Given the description of an element on the screen output the (x, y) to click on. 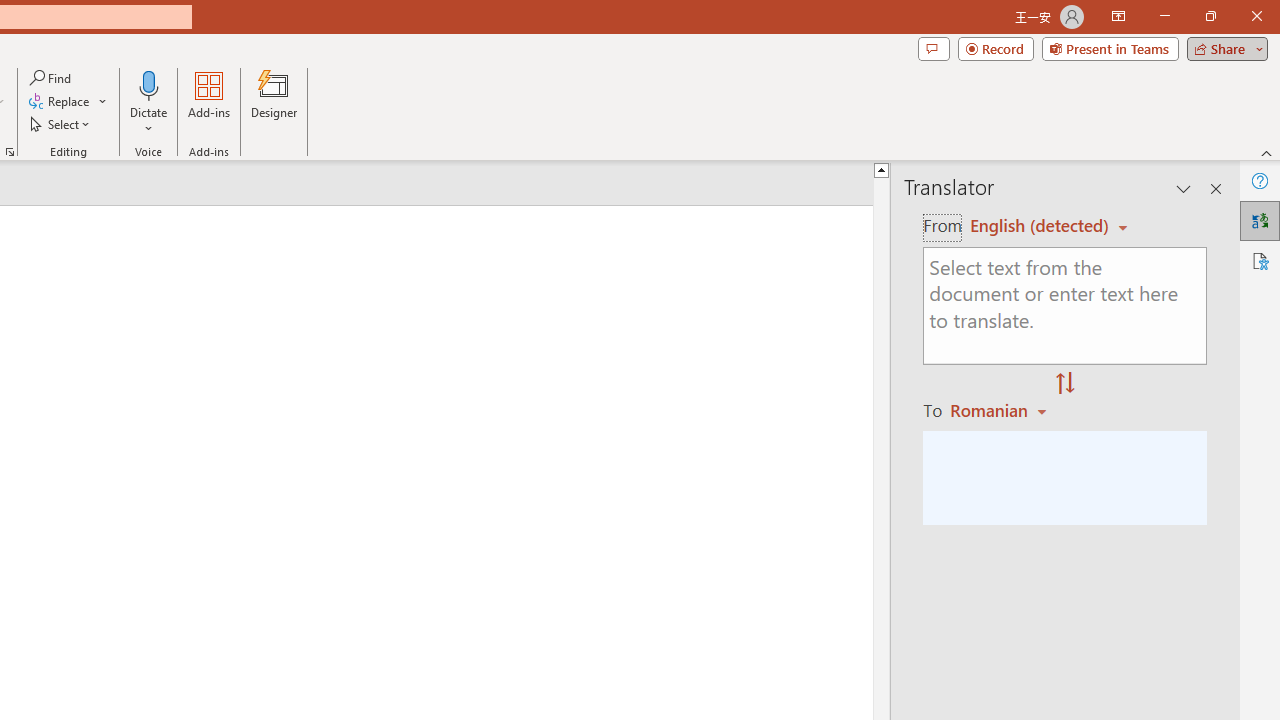
Swap "from" and "to" languages. (1065, 383)
